Given the description of an element on the screen output the (x, y) to click on. 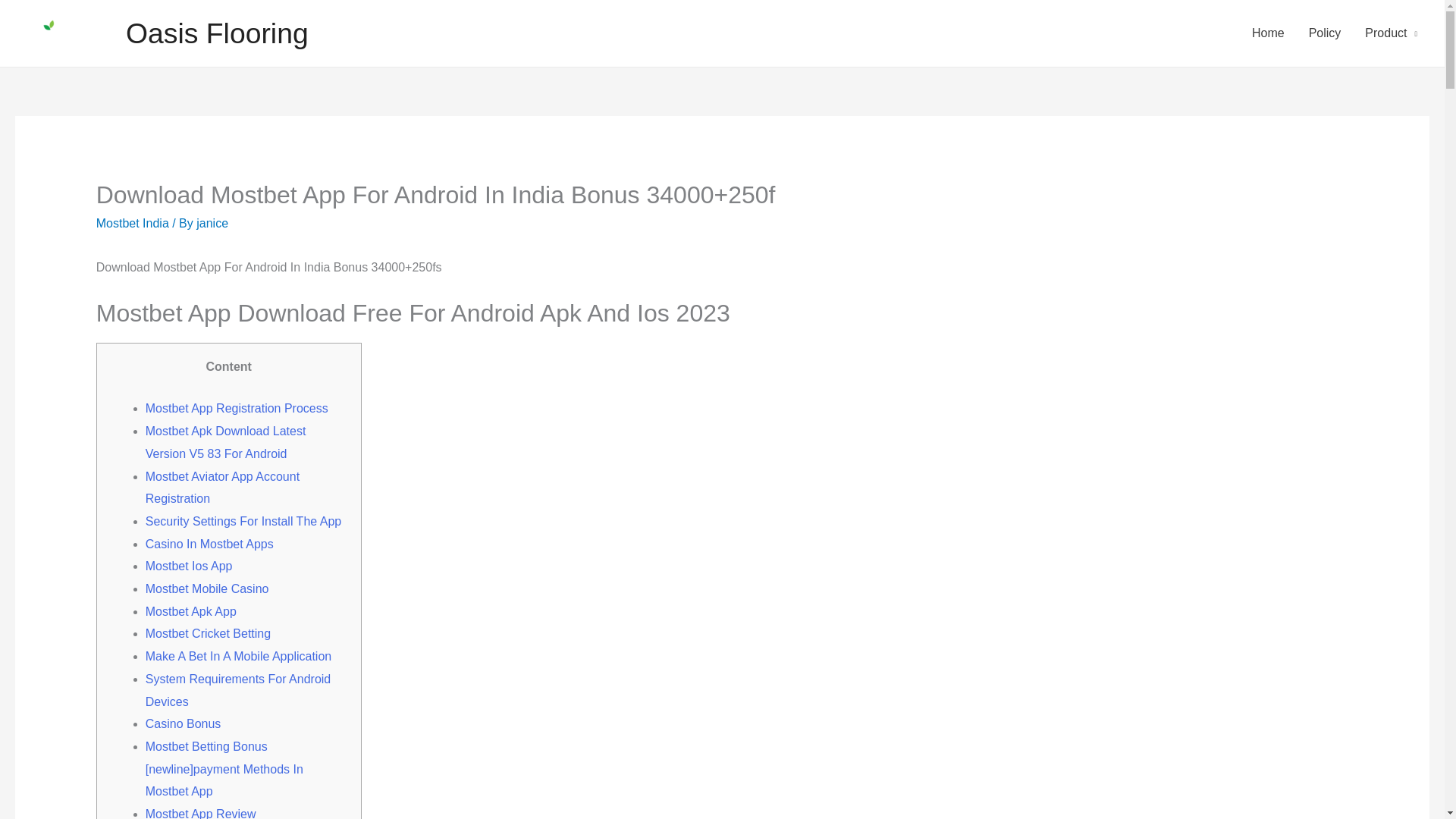
Product (1390, 33)
Mostbet Aviator App Account Registration (222, 488)
Mostbet App Registration Process (237, 408)
Mostbet Ios App (188, 565)
System Requirements For Android Devices (238, 690)
Mostbet App Review (200, 813)
View all posts by janice (212, 223)
Mostbet Apk App (190, 611)
Make A Bet In A Mobile Application (238, 656)
Oasis Flooring (216, 33)
janice (212, 223)
Mostbet Cricket Betting (207, 633)
Security Settings For Install The App (243, 521)
Casino Bonus (183, 723)
Casino In Mostbet Apps (209, 543)
